Given the description of an element on the screen output the (x, y) to click on. 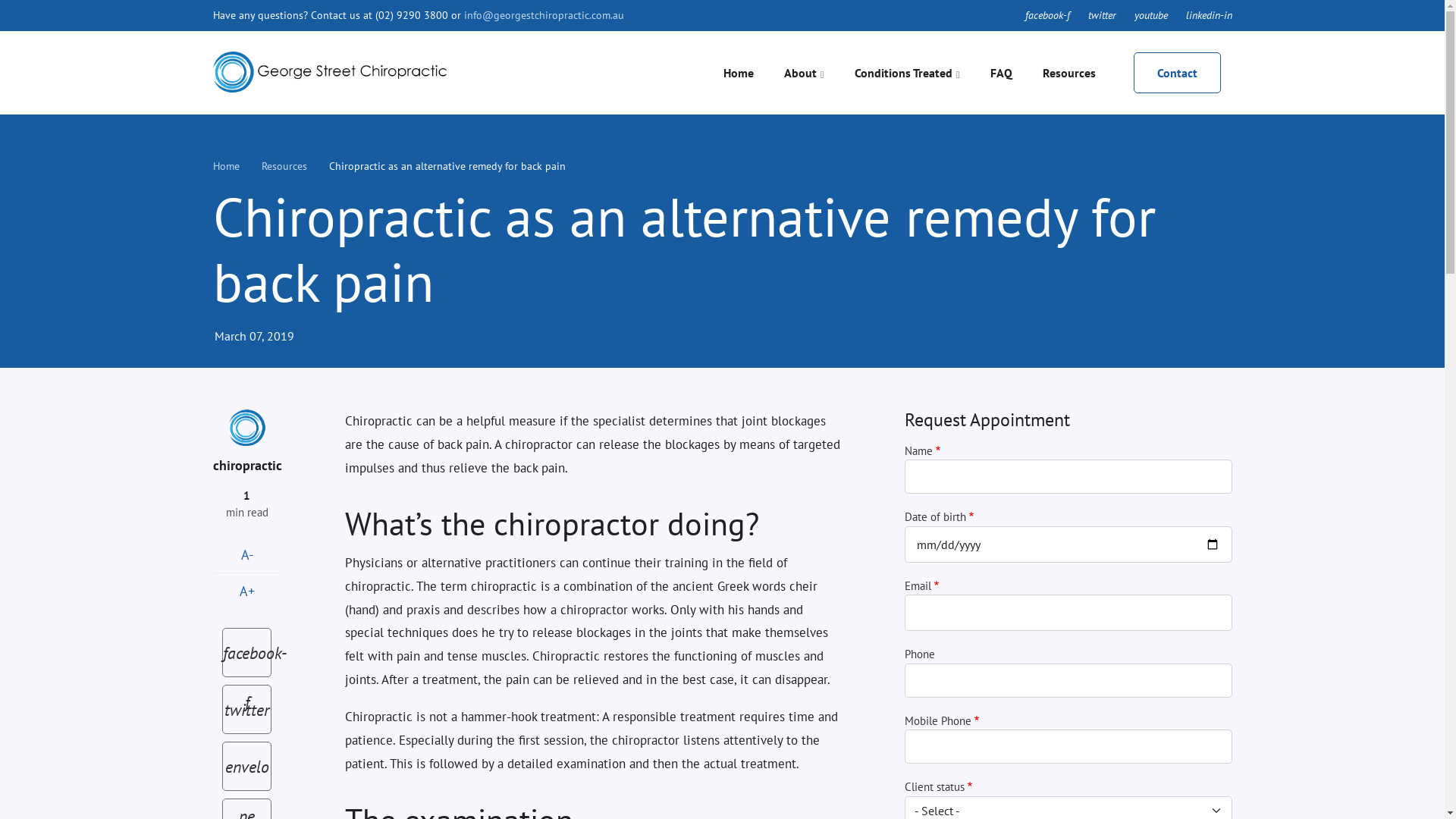
Contact Element type: text (1176, 72)
A- Element type: text (246, 554)
linkedin-in Element type: text (1209, 15)
youtube Element type: text (1150, 15)
Home Element type: text (738, 72)
Home Element type: hover (328, 70)
facebook-f Element type: text (1047, 15)
envelope Element type: text (246, 765)
info@georgestchiropractic.com.au Element type: text (544, 14)
Home Element type: text (225, 165)
Resources Element type: text (1068, 72)
twitter Element type: text (1101, 15)
A+ Element type: text (246, 590)
FAQ Element type: text (1000, 72)
facebook-f Element type: text (246, 652)
Resources Element type: text (283, 165)
twitter Element type: text (246, 709)
